Given the description of an element on the screen output the (x, y) to click on. 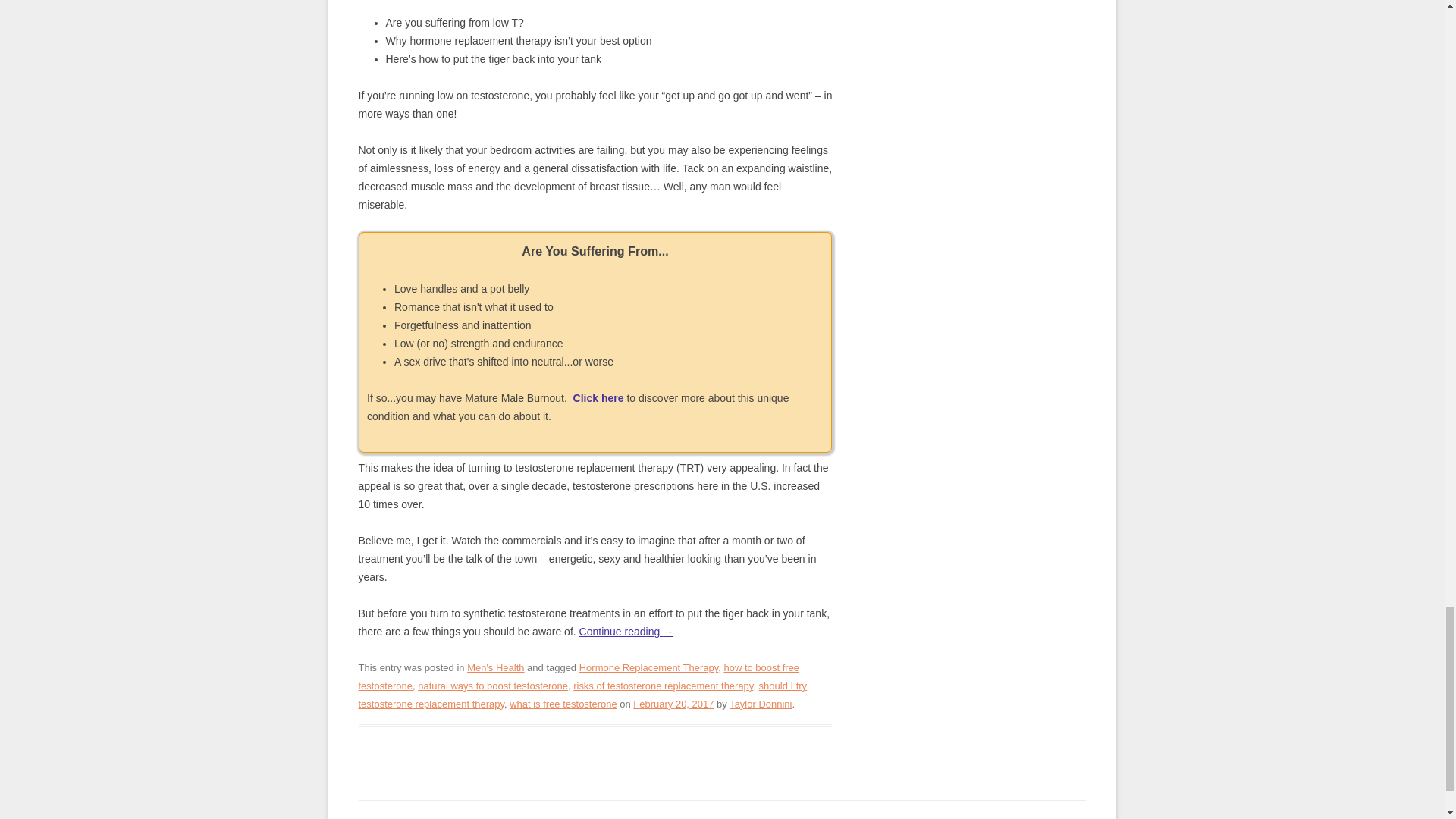
5:00 am (673, 704)
View all posts by Taylor Donnini (760, 704)
